Given the description of an element on the screen output the (x, y) to click on. 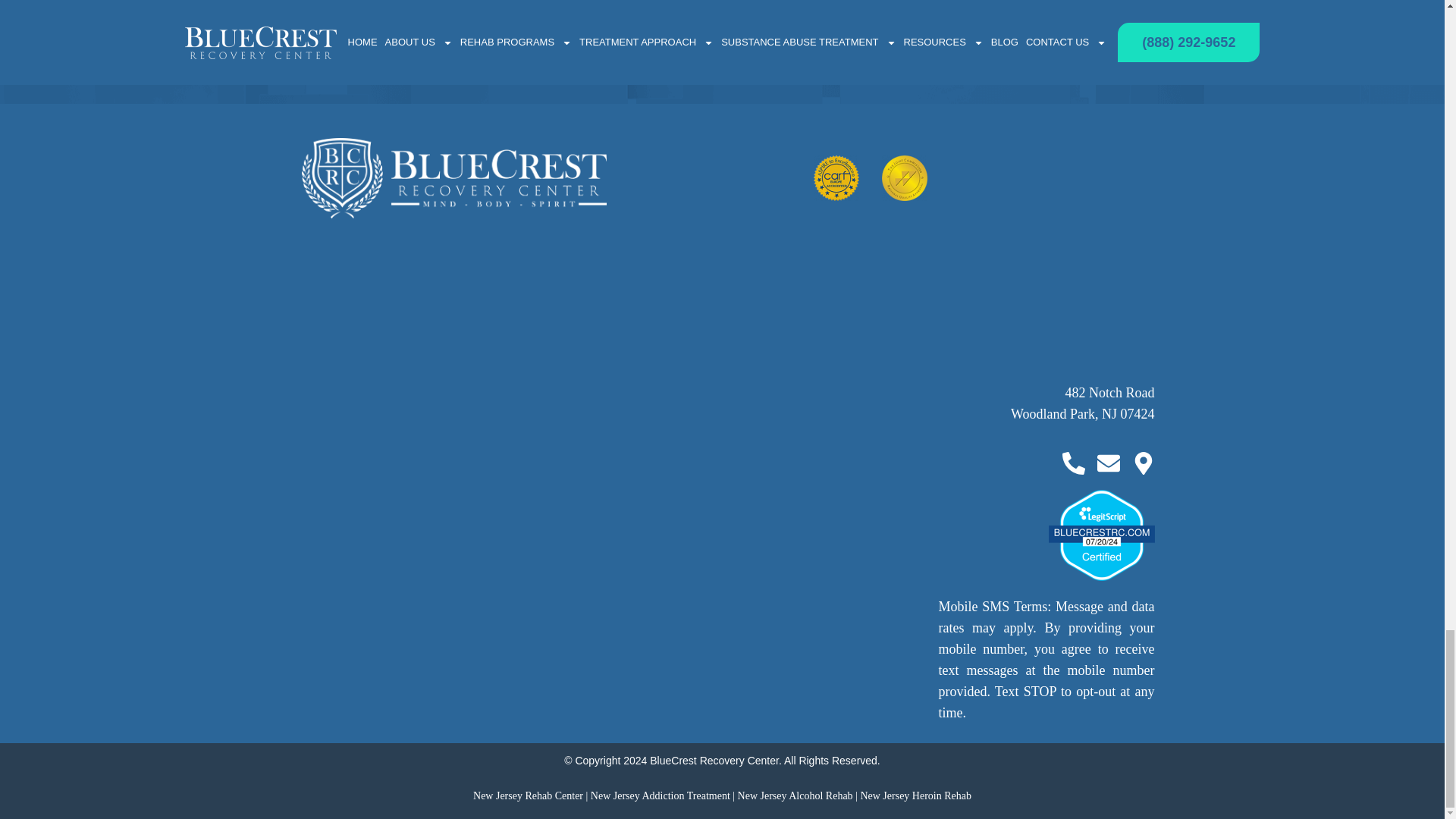
Verify LegitScript Approval (1101, 533)
